Given the description of an element on the screen output the (x, y) to click on. 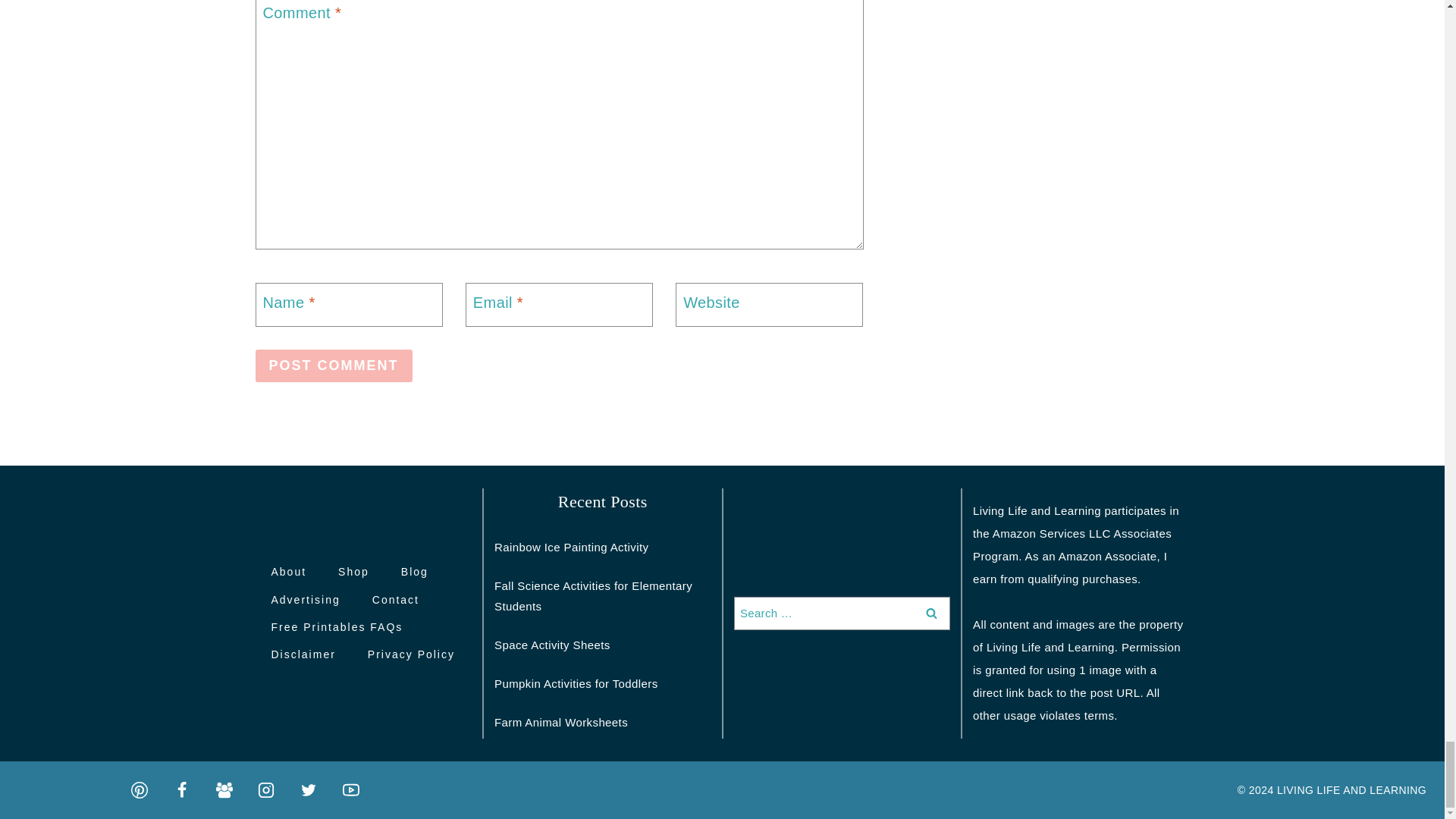
Search (931, 613)
Search (931, 613)
Post Comment (333, 365)
